Given the description of an element on the screen output the (x, y) to click on. 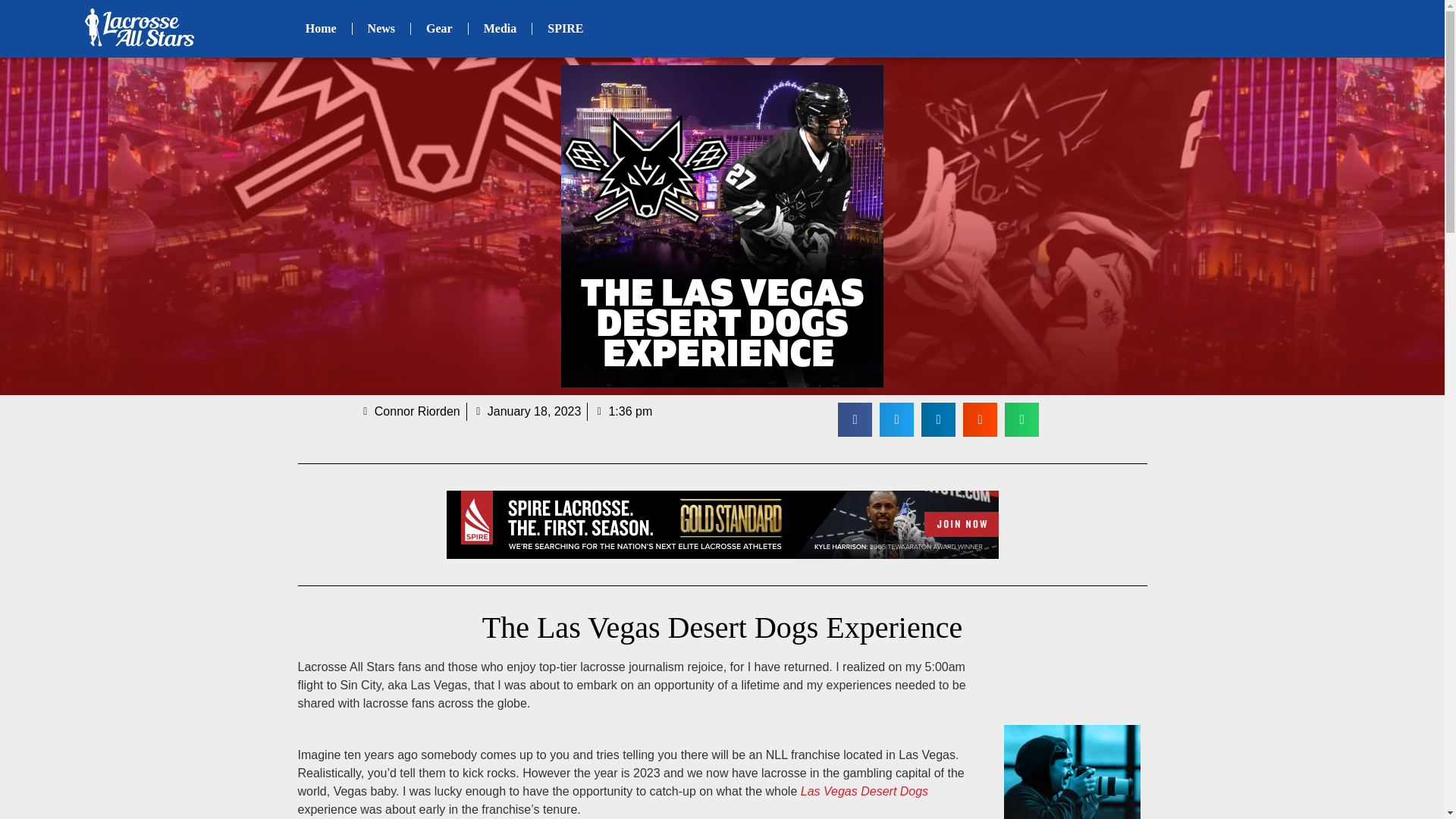
SPIRE (565, 28)
News (381, 28)
Media (500, 28)
January 18, 2023 (526, 411)
Home (320, 28)
Connor Riorden (409, 411)
Gear (438, 28)
Las Vegas Desert Dogs (864, 790)
